Given the description of an element on the screen output the (x, y) to click on. 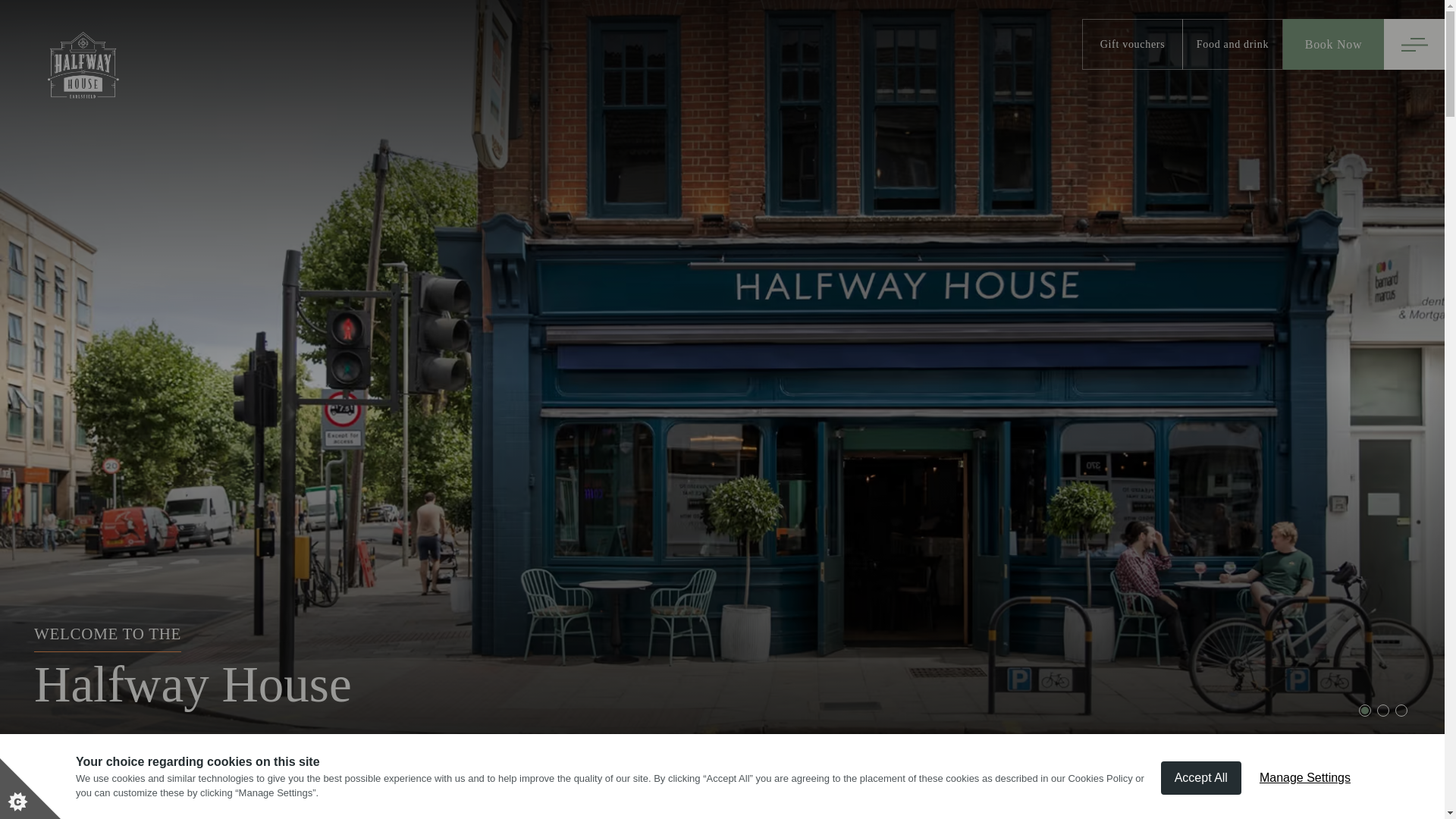
Accept All (1200, 780)
Manage Settings (1304, 779)
Food and drink (1232, 43)
Gift vouchers (1131, 43)
Book Now (1333, 43)
